Given the description of an element on the screen output the (x, y) to click on. 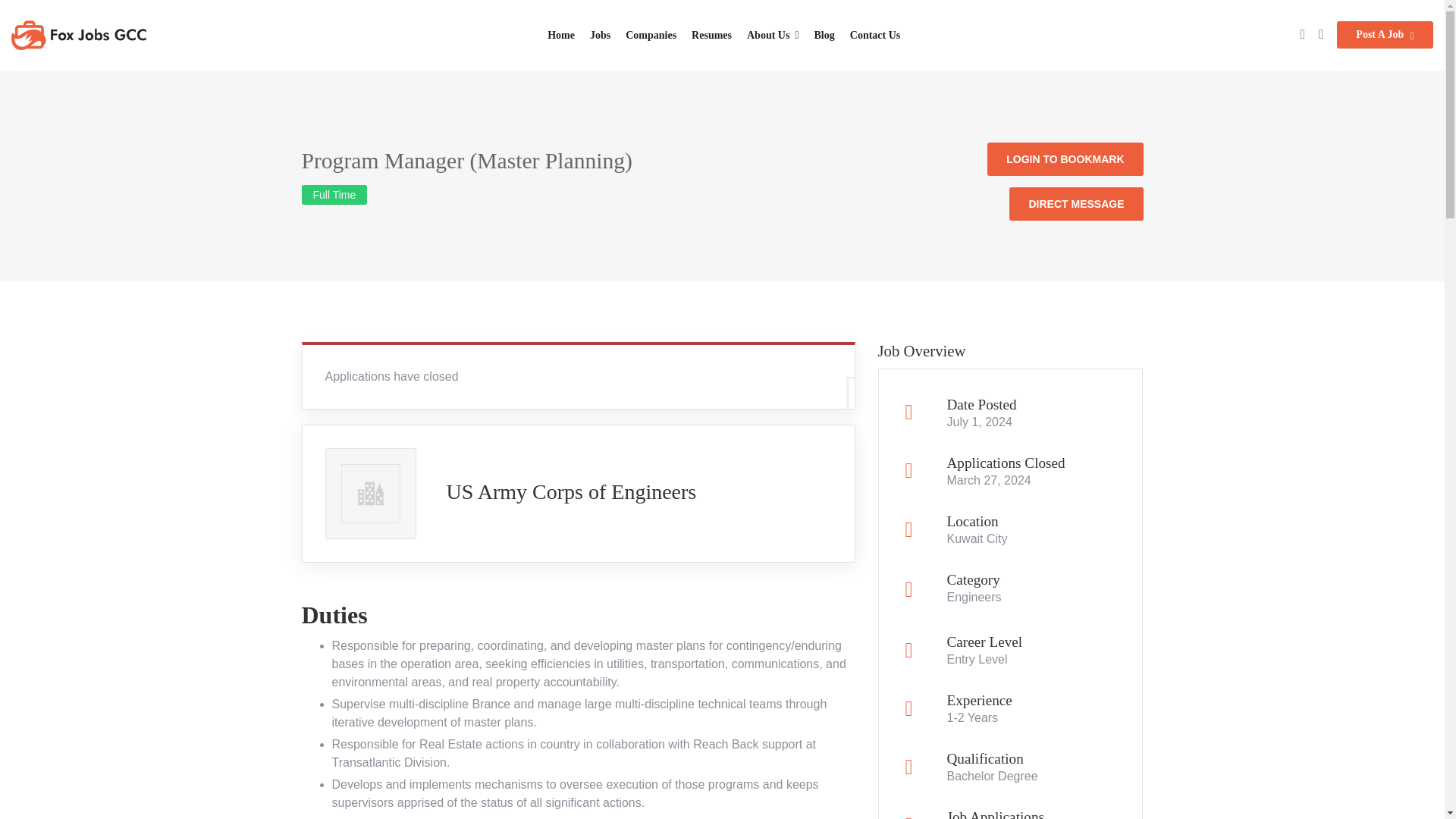
Post A Job (1384, 34)
Resumes (711, 34)
Blog (823, 34)
Companies (651, 34)
US Army Corps of Engineers (570, 491)
Kuwait City (976, 538)
LOGIN TO BOOKMARK (1064, 159)
Jobs (599, 34)
About Us (772, 34)
Engineers (973, 596)
DIRECT MESSAGE (1075, 203)
Contact Us (875, 34)
Home (561, 34)
Fox Jobs GCC (79, 33)
